Given the description of an element on the screen output the (x, y) to click on. 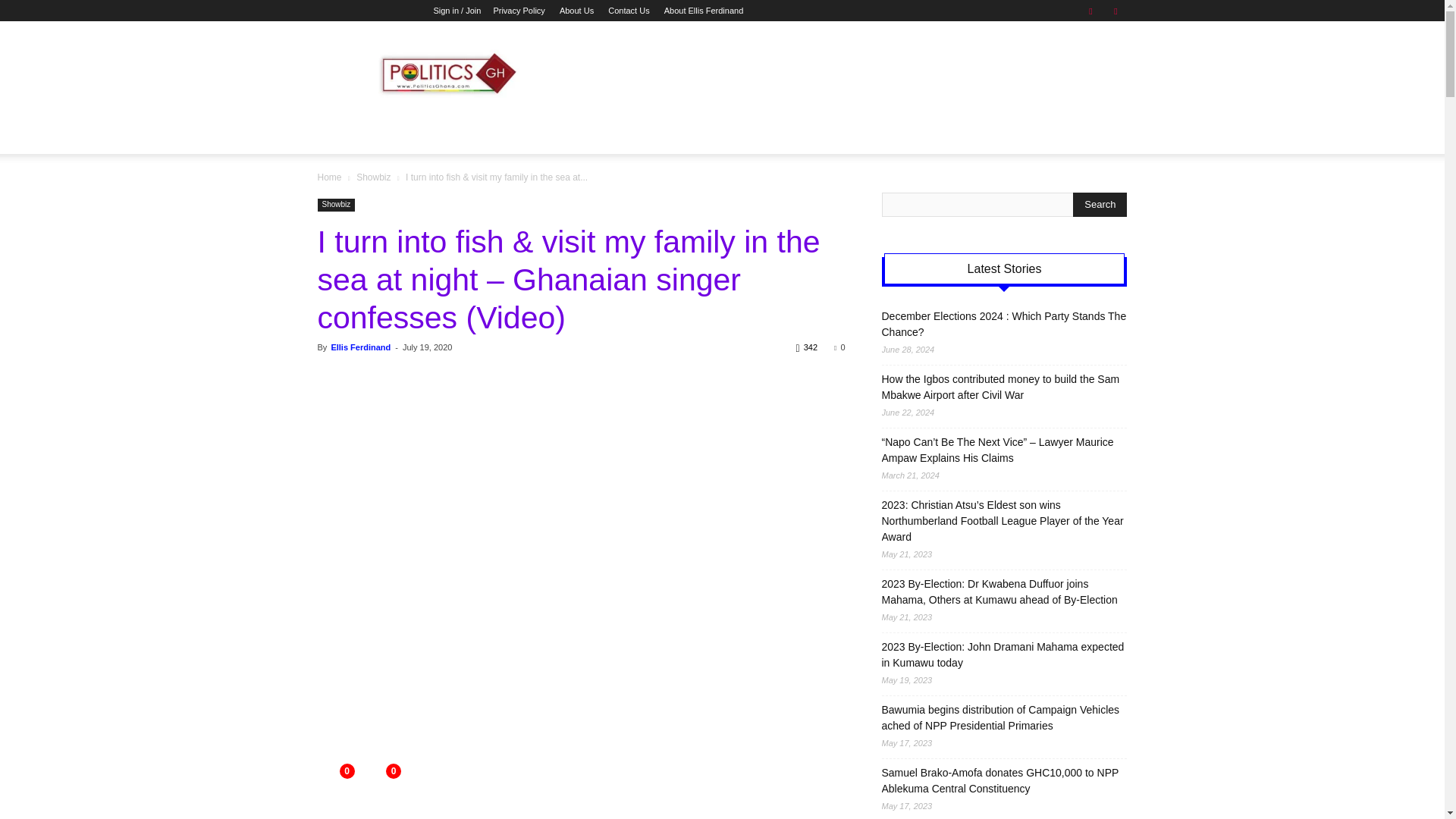
Facebook (1090, 10)
View all posts in Showbiz (373, 176)
Twitter (1114, 10)
Search (1099, 204)
PoliticsGhana (445, 76)
